Given the description of an element on the screen output the (x, y) to click on. 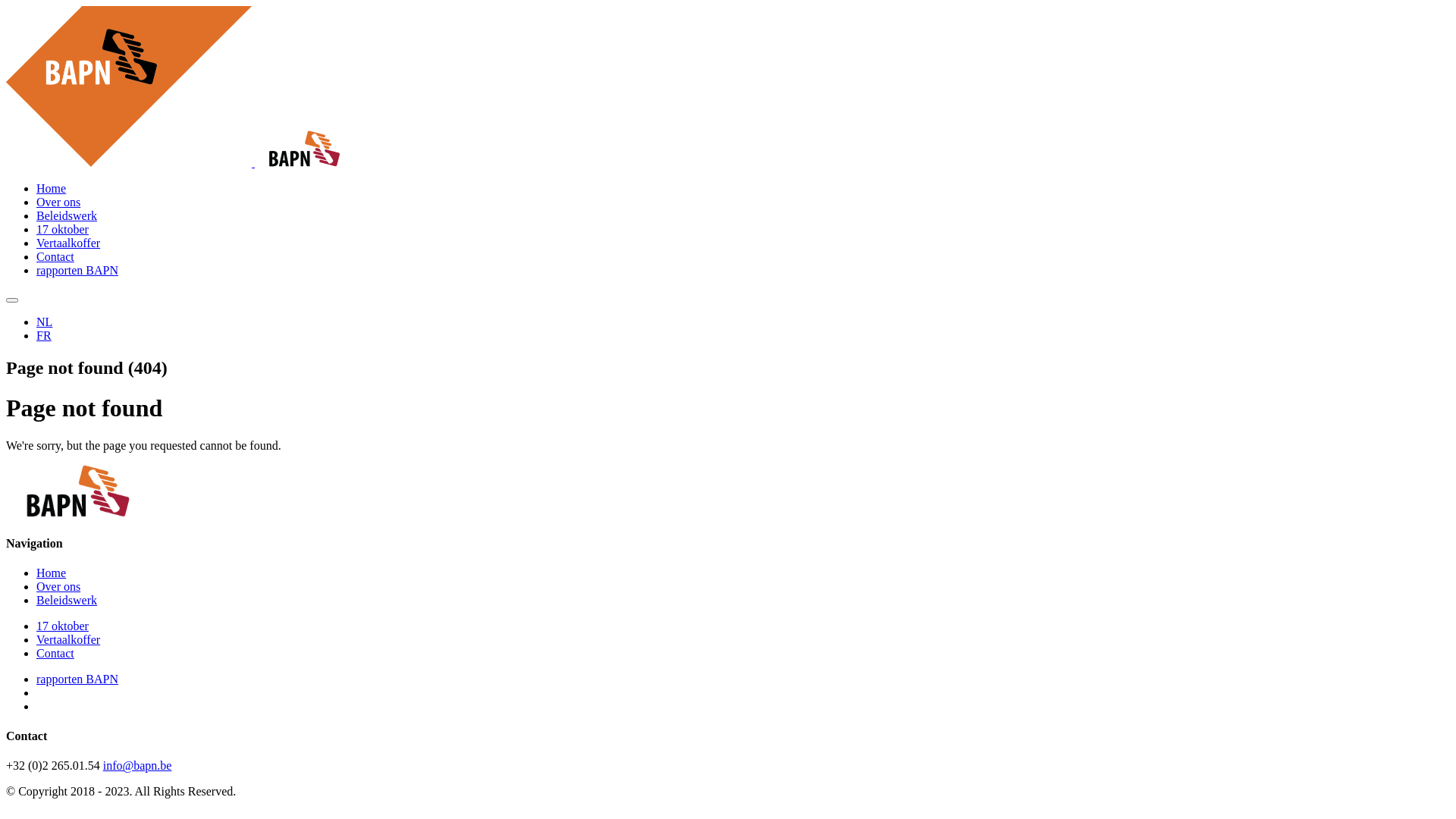
Over ons Element type: text (58, 201)
Vertaalkoffer Element type: text (68, 242)
rapporten BAPN Element type: text (77, 269)
info@bapn.be Element type: text (137, 765)
rapporten BAPN Element type: text (77, 678)
Over ons Element type: text (58, 586)
17 oktober Element type: text (62, 625)
Contact Element type: text (55, 256)
Contact Element type: text (55, 652)
NL Element type: text (44, 321)
FR Element type: text (43, 335)
17 oktober Element type: text (62, 228)
Beleidswerk Element type: text (66, 215)
Beleidswerk Element type: text (66, 599)
Home Element type: text (50, 188)
Vertaalkoffer Element type: text (68, 639)
Home Element type: text (50, 572)
